Given the description of an element on the screen output the (x, y) to click on. 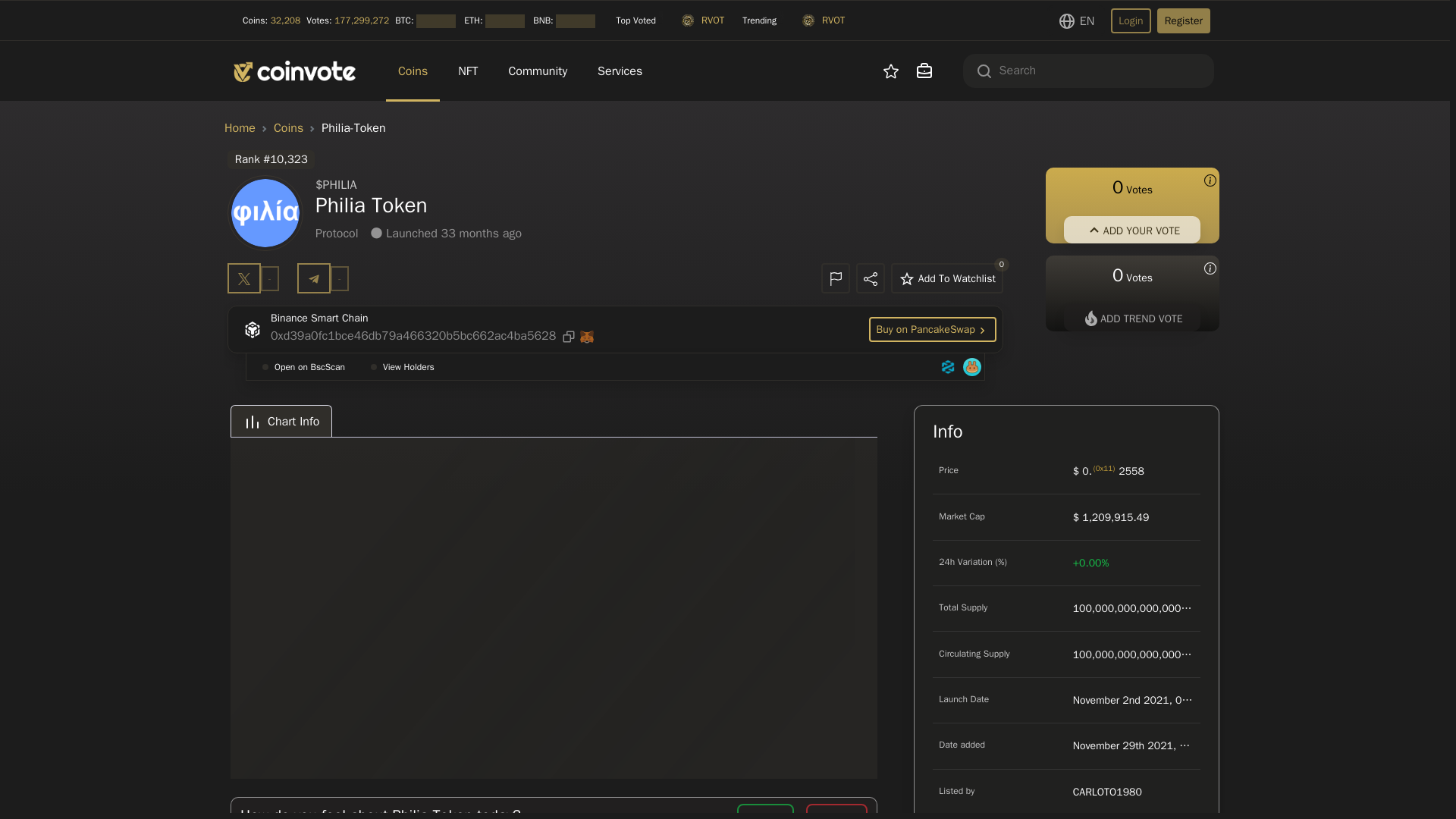
Loading... (504, 18)
Register (1183, 20)
Realtime price for 1 ETH in USDT (495, 20)
Realtime price for 1 BTC in USDT (426, 20)
RVOT (704, 16)
Realtime price for 1 BNB in USDT (564, 20)
RVOT (825, 16)
EN (1075, 20)
Chart Info (553, 420)
Loading... (575, 18)
